Given the description of an element on the screen output the (x, y) to click on. 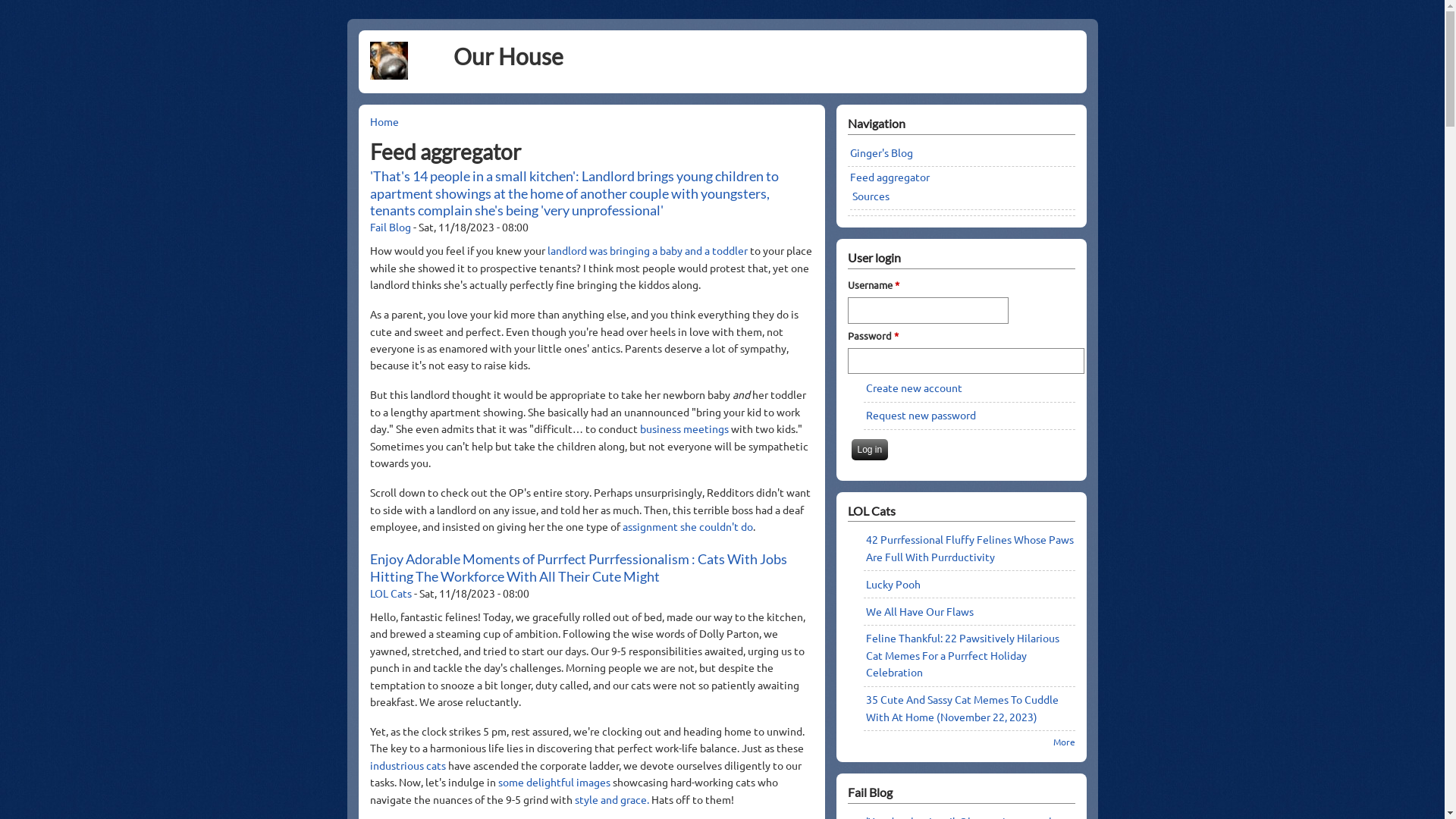
business meetings Element type: text (684, 428)
Home Element type: hover (388, 74)
Request new password Element type: text (920, 414)
industrious cats Element type: text (407, 764)
assignment she couldn't do Element type: text (686, 526)
More Element type: text (1063, 741)
some delightful images Element type: text (553, 781)
Create new account Element type: text (914, 387)
Home Element type: text (384, 121)
landlord was bringing a baby and a toddler Element type: text (648, 250)
Log in Element type: text (869, 449)
Our House Element type: text (508, 55)
We All Have Our Flaws Element type: text (919, 611)
Ginger's Blog Element type: text (880, 152)
Lucky Pooh Element type: text (893, 583)
Fail Blog Element type: text (390, 226)
style and grace. Element type: text (612, 799)
Feed aggregator Element type: text (888, 176)
LOL Cats Element type: text (390, 592)
Sources Element type: text (870, 195)
